Given the description of an element on the screen output the (x, y) to click on. 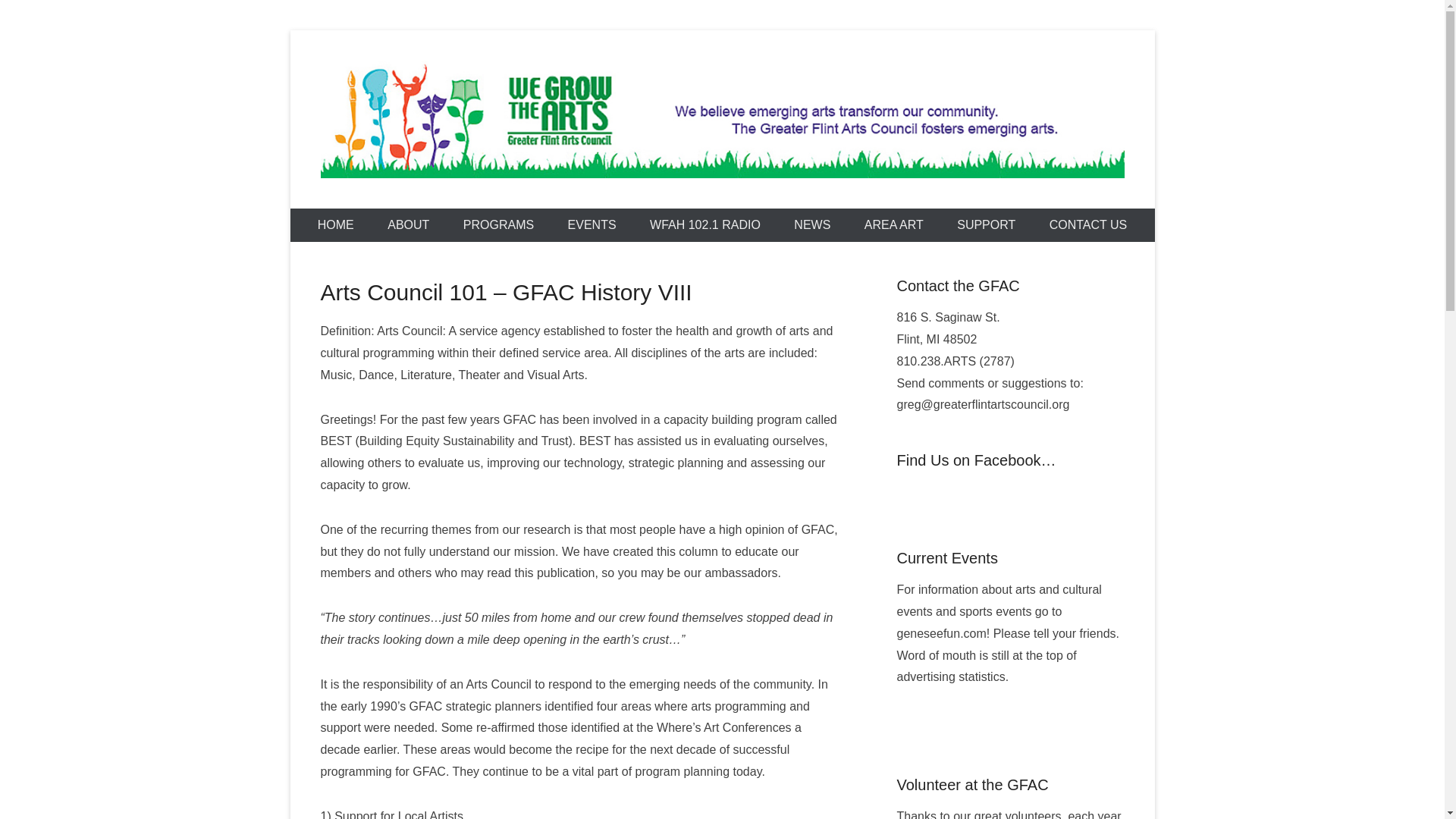
CONTACT US (1087, 224)
NEWS (811, 224)
PROGRAMS (498, 224)
SUPPORT (986, 224)
Greater Flint Arts Council (550, 204)
EVENTS (592, 224)
ABOUT (408, 224)
WFAH 102.1 RADIO (705, 224)
Facebook (908, 493)
HOME (335, 224)
AREA ART (893, 224)
Facebook (908, 493)
ABOUT (408, 224)
